Given the description of an element on the screen output the (x, y) to click on. 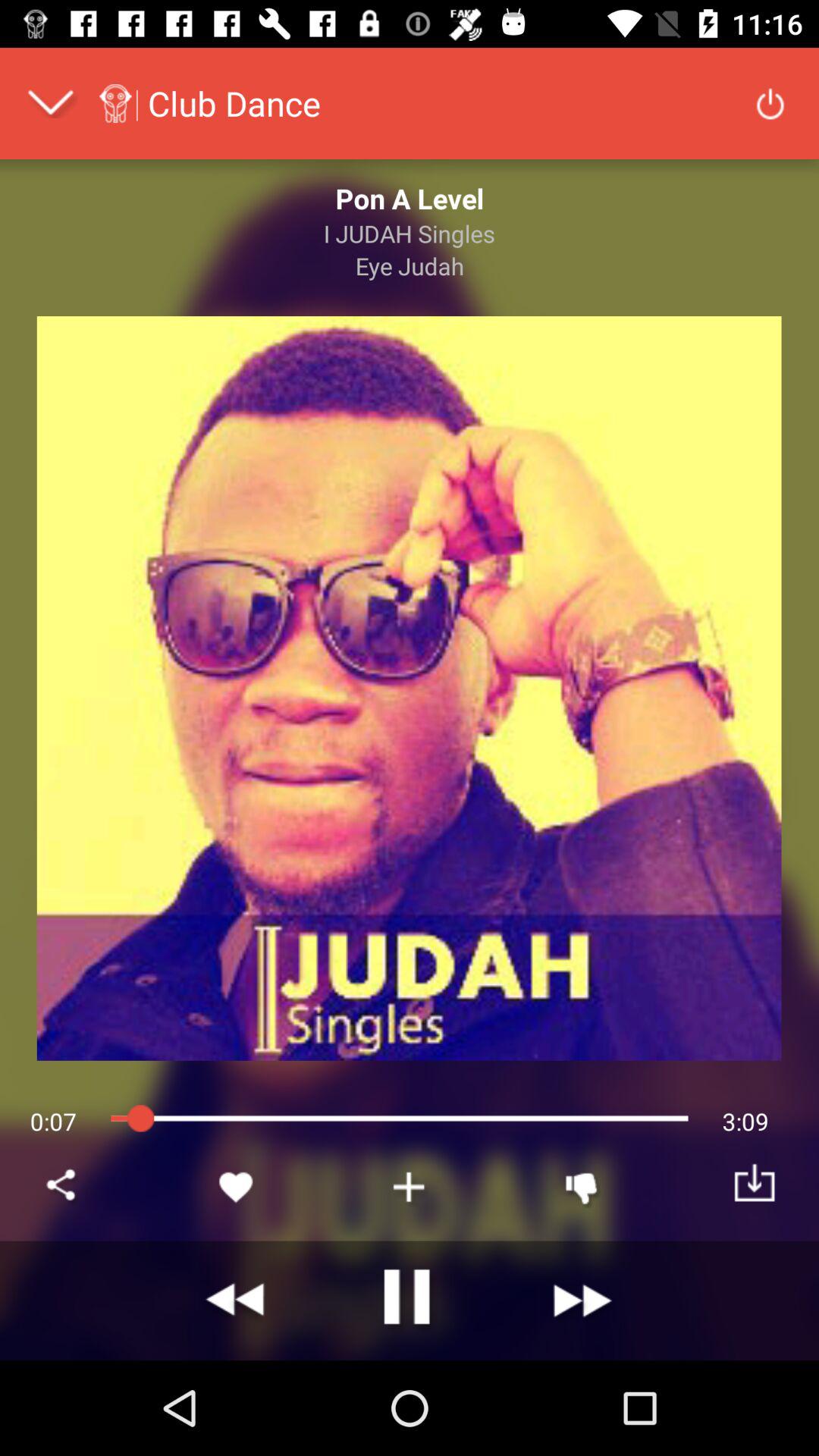
switch autoplay option (409, 1300)
